Given the description of an element on the screen output the (x, y) to click on. 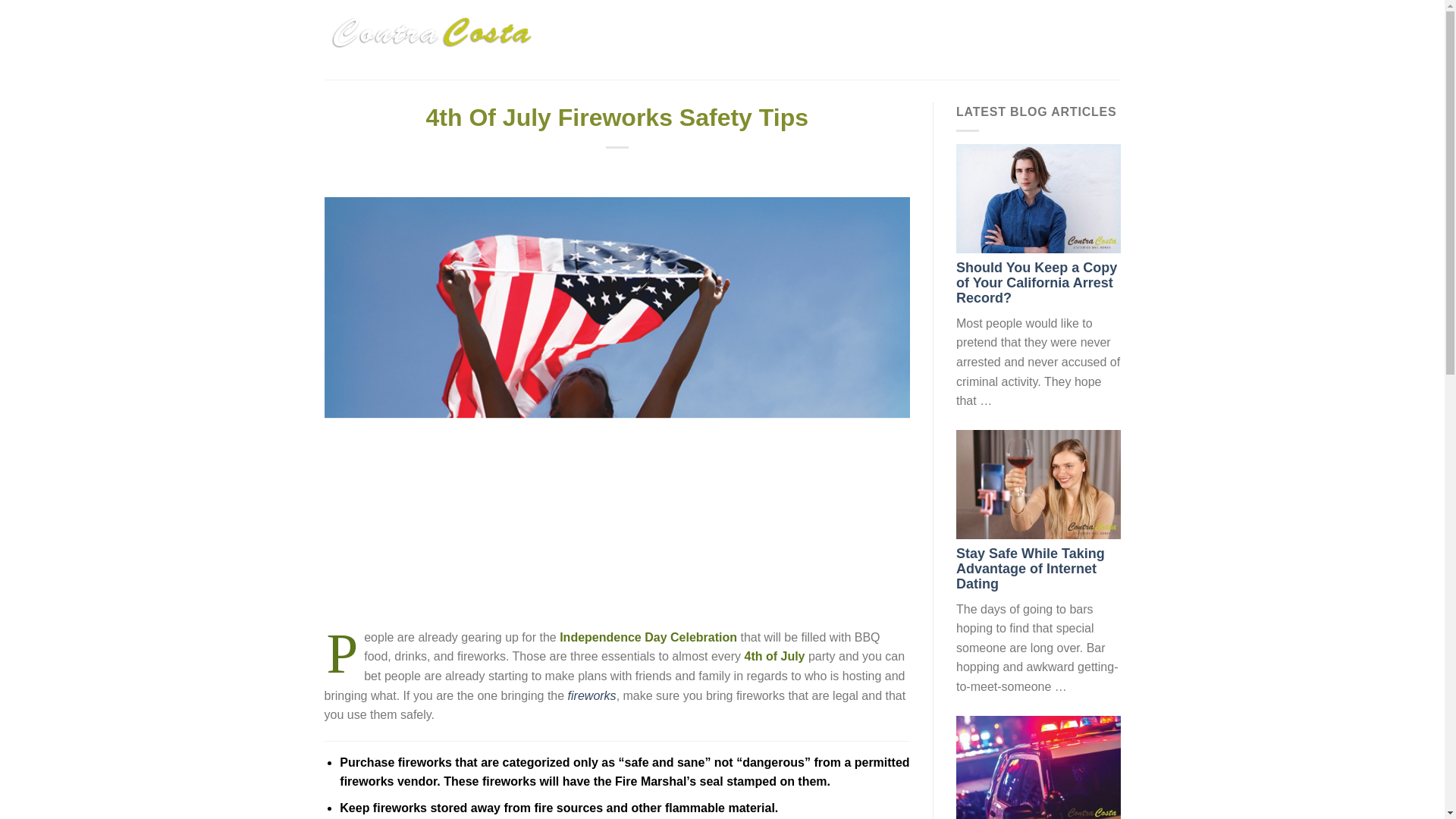
Contra Costa County Bail Bonds - Martinez Bail Bonds (432, 39)
HOME (661, 39)
CONTACT US (1082, 39)
REVIEWS (915, 39)
BLOG (1014, 39)
fireworks (591, 695)
ABOUT US (724, 39)
Should You Keep a Copy of Your California Arrest Record? (1036, 282)
HOW BAIL WORKS (821, 39)
Stay Safe While Taking Advantage of Internet Dating (1030, 568)
